Given the description of an element on the screen output the (x, y) to click on. 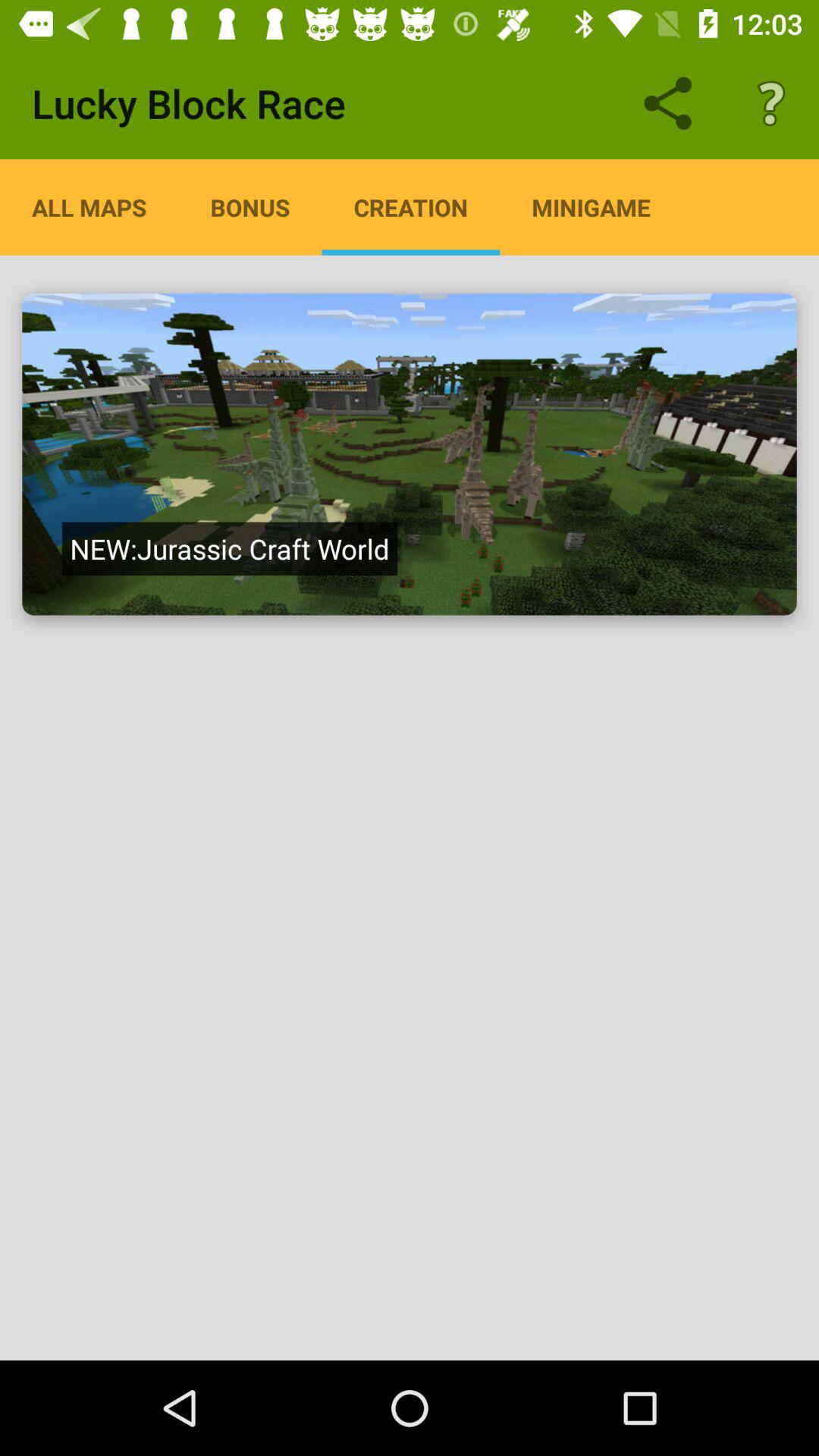
go to a creation map on minecraft (409, 454)
